Given the description of an element on the screen output the (x, y) to click on. 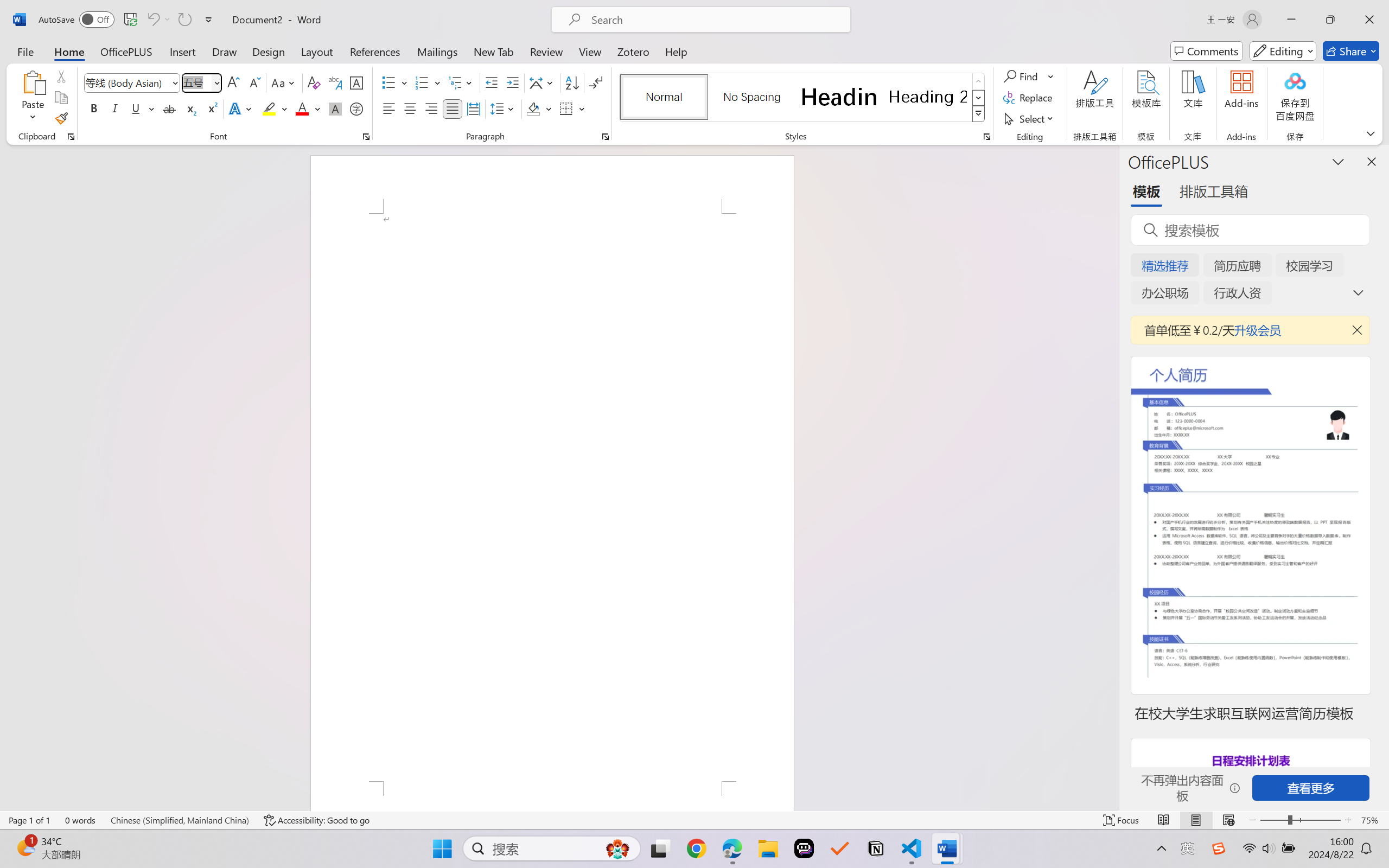
Text Highlight Color Yellow (269, 108)
New Tab (493, 51)
Paste (33, 97)
Underline (135, 108)
View (589, 51)
Page 1 content (551, 497)
Help (675, 51)
Shrink Font (253, 82)
Font (126, 82)
Text Effects and Typography (241, 108)
Bold (94, 108)
Accessibility Checker Accessibility: Good to go (317, 819)
